Given the description of an element on the screen output the (x, y) to click on. 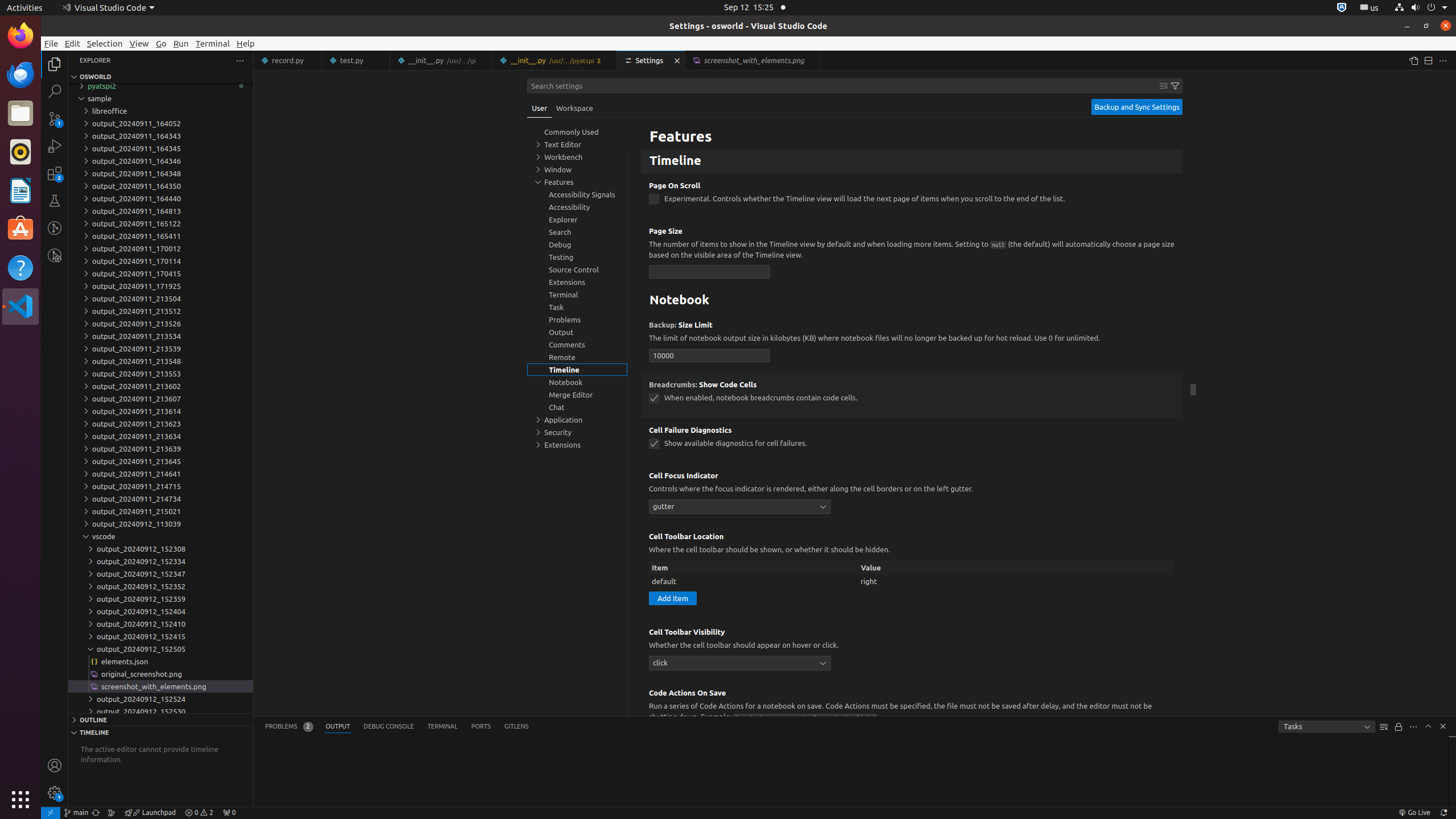
Application, group Element type: tree-item (577, 419)
GitLens Element type: page-tab (516, 726)
Edit Element type: push-button (72, 43)
Settings Element type: page-tab (651, 60)
Features, group Element type: tree-item (577, 181)
